Given the description of an element on the screen output the (x, y) to click on. 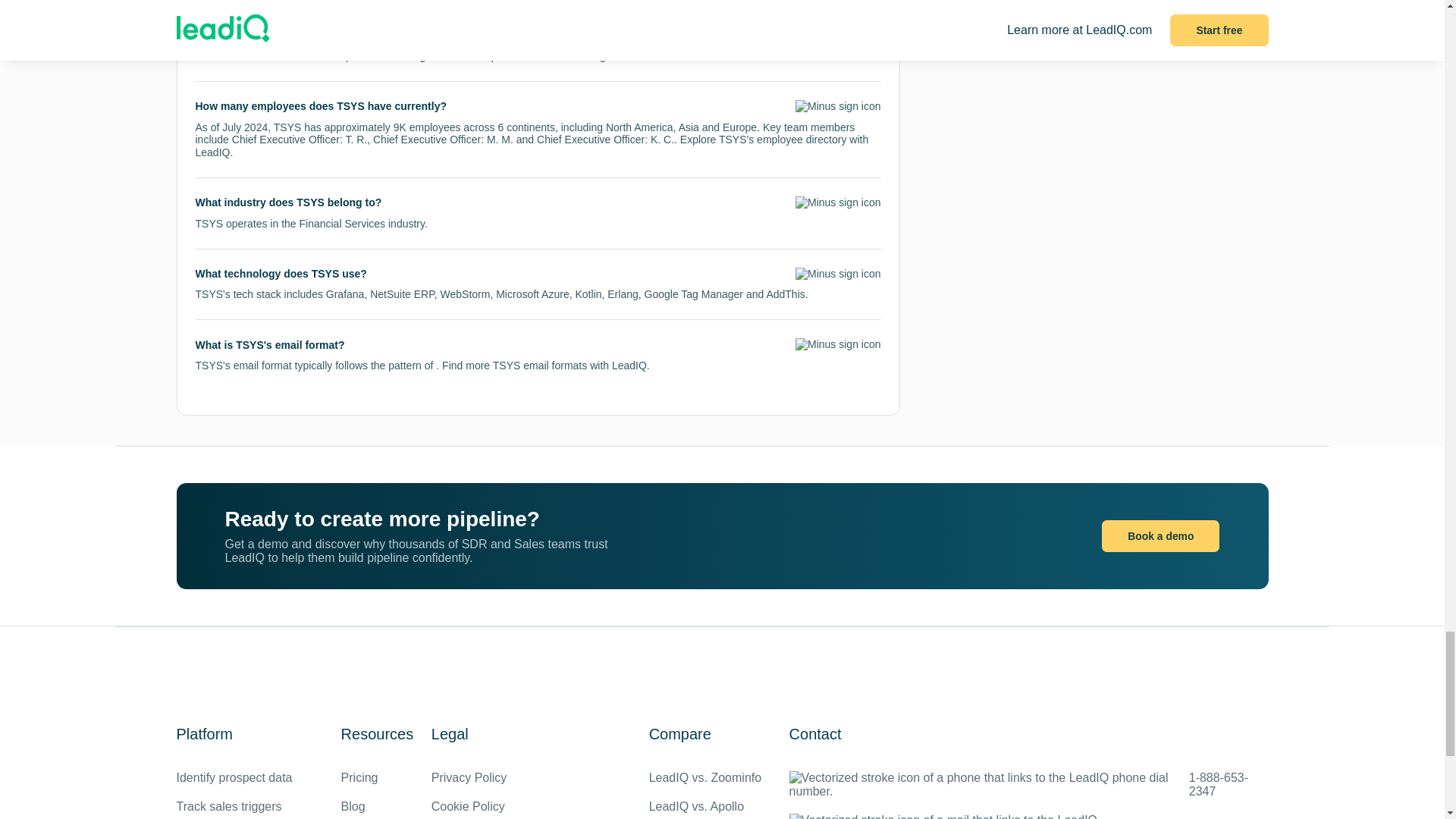
Find more TSYS email formats (514, 365)
TSYS's employee directory (782, 139)
